Given the description of an element on the screen output the (x, y) to click on. 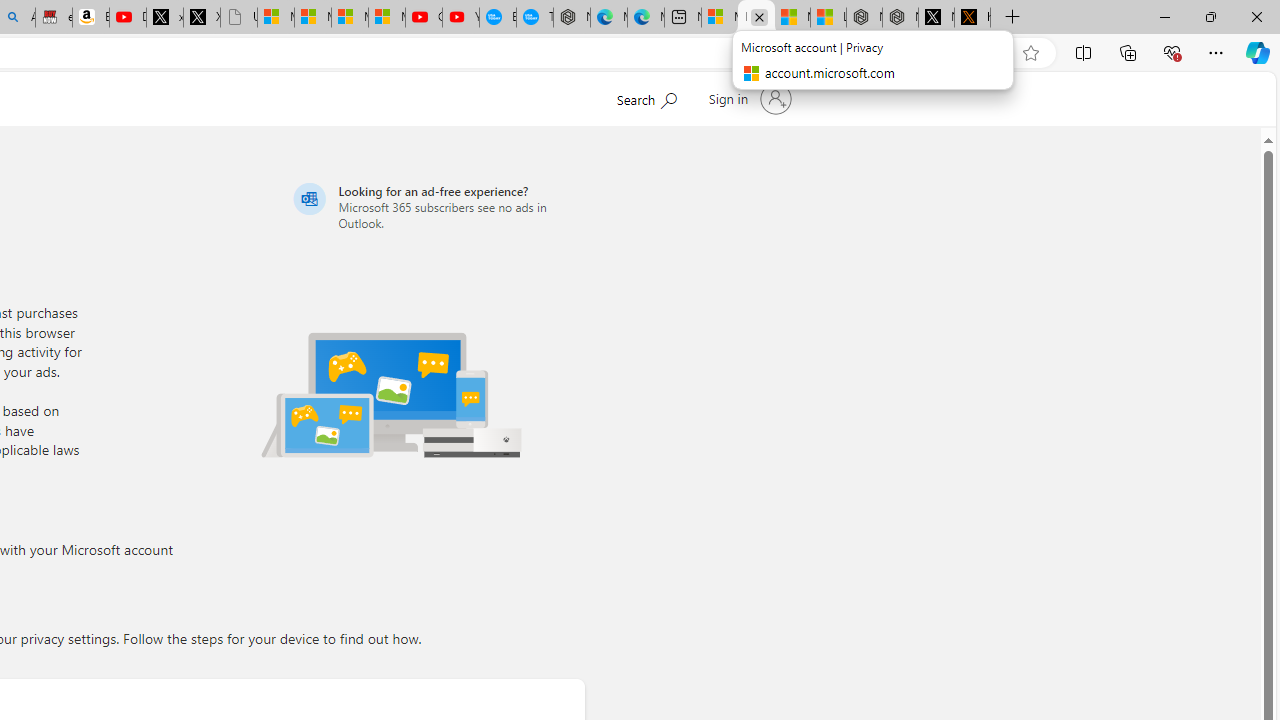
Microsoft account | Privacy (756, 17)
The most popular Google 'how to' searches (534, 17)
Gloom - YouTube (423, 17)
